Given the description of an element on the screen output the (x, y) to click on. 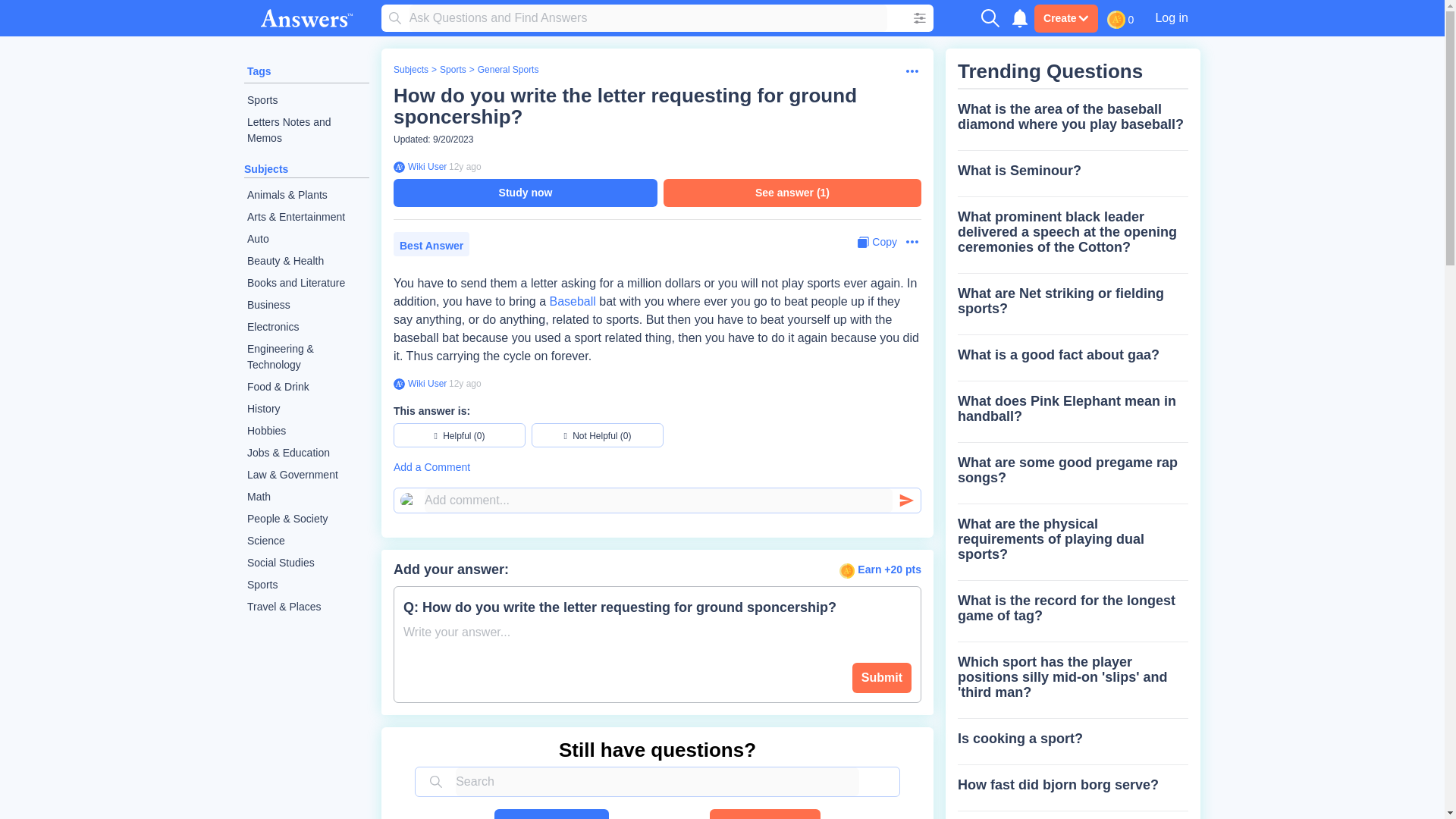
Books and Literature (306, 282)
Science (306, 540)
Subjects (410, 69)
Business (306, 305)
Sports (452, 69)
Wiki User (425, 383)
2011-11-02 16:17:07 (464, 166)
Hobbies (306, 431)
Study now (525, 193)
Letters Notes and Memos (306, 130)
